Given the description of an element on the screen output the (x, y) to click on. 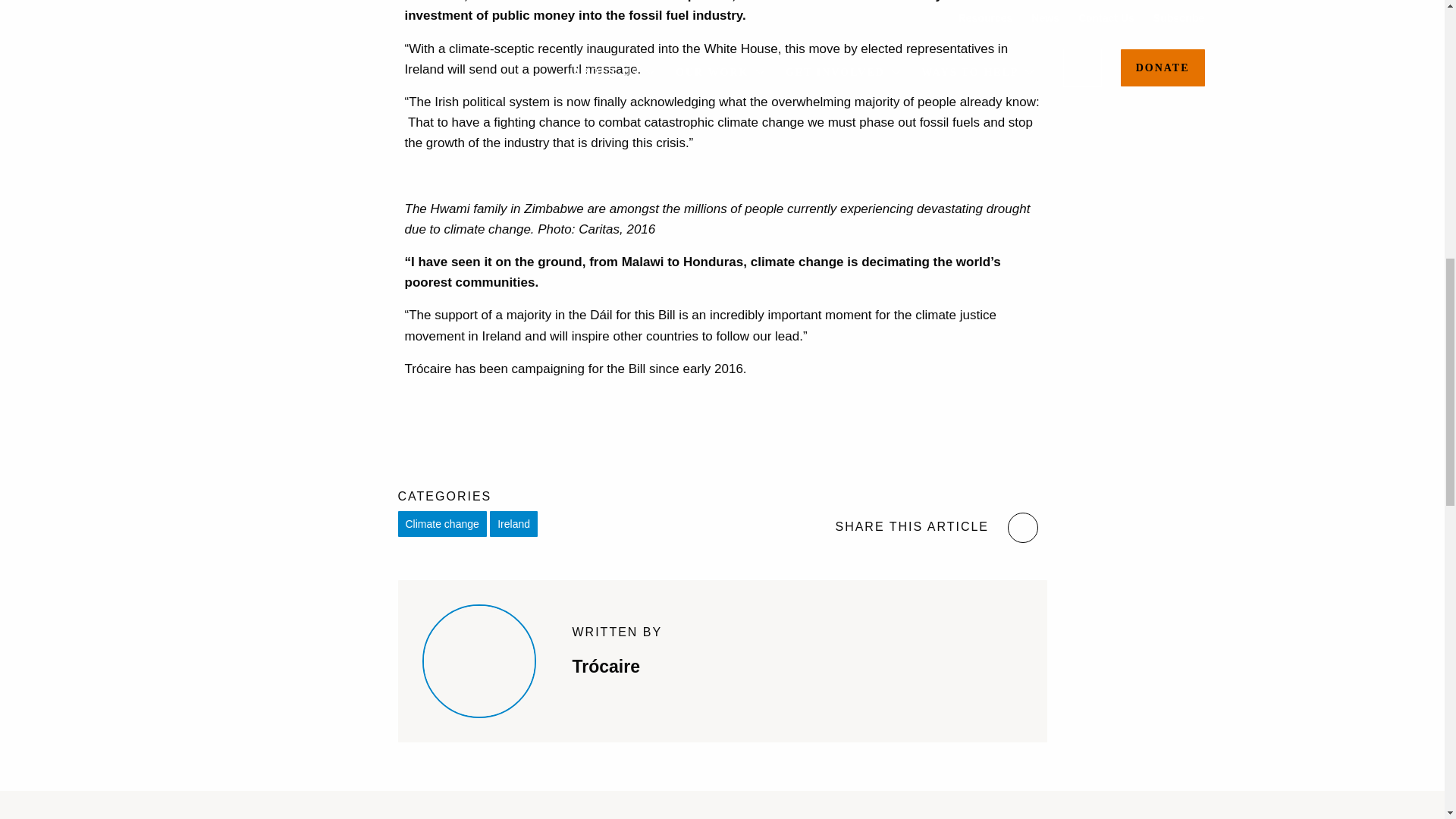
Instagram (1021, 527)
